Given the description of an element on the screen output the (x, y) to click on. 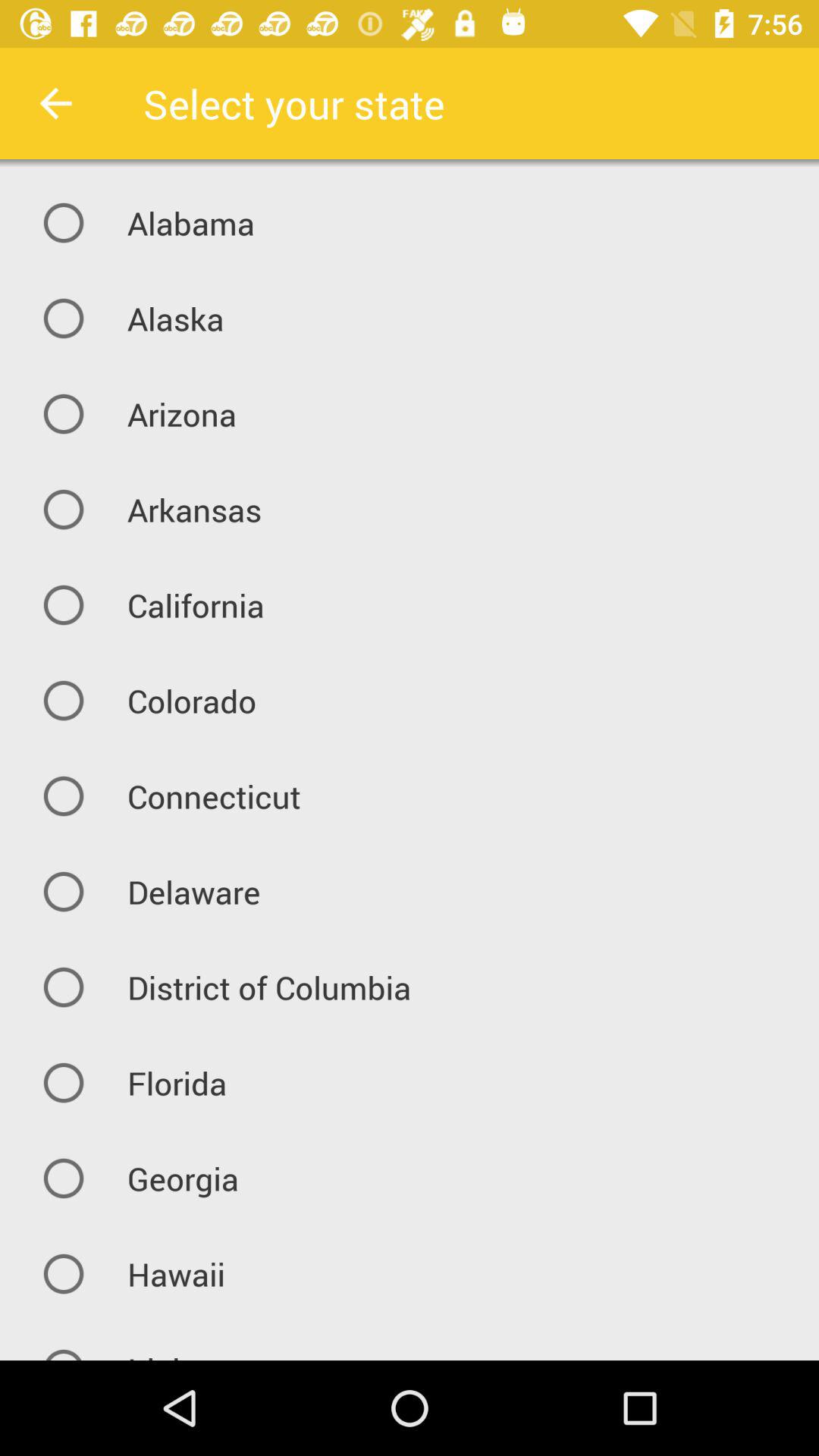
return to previous screen (55, 103)
